Given the description of an element on the screen output the (x, y) to click on. 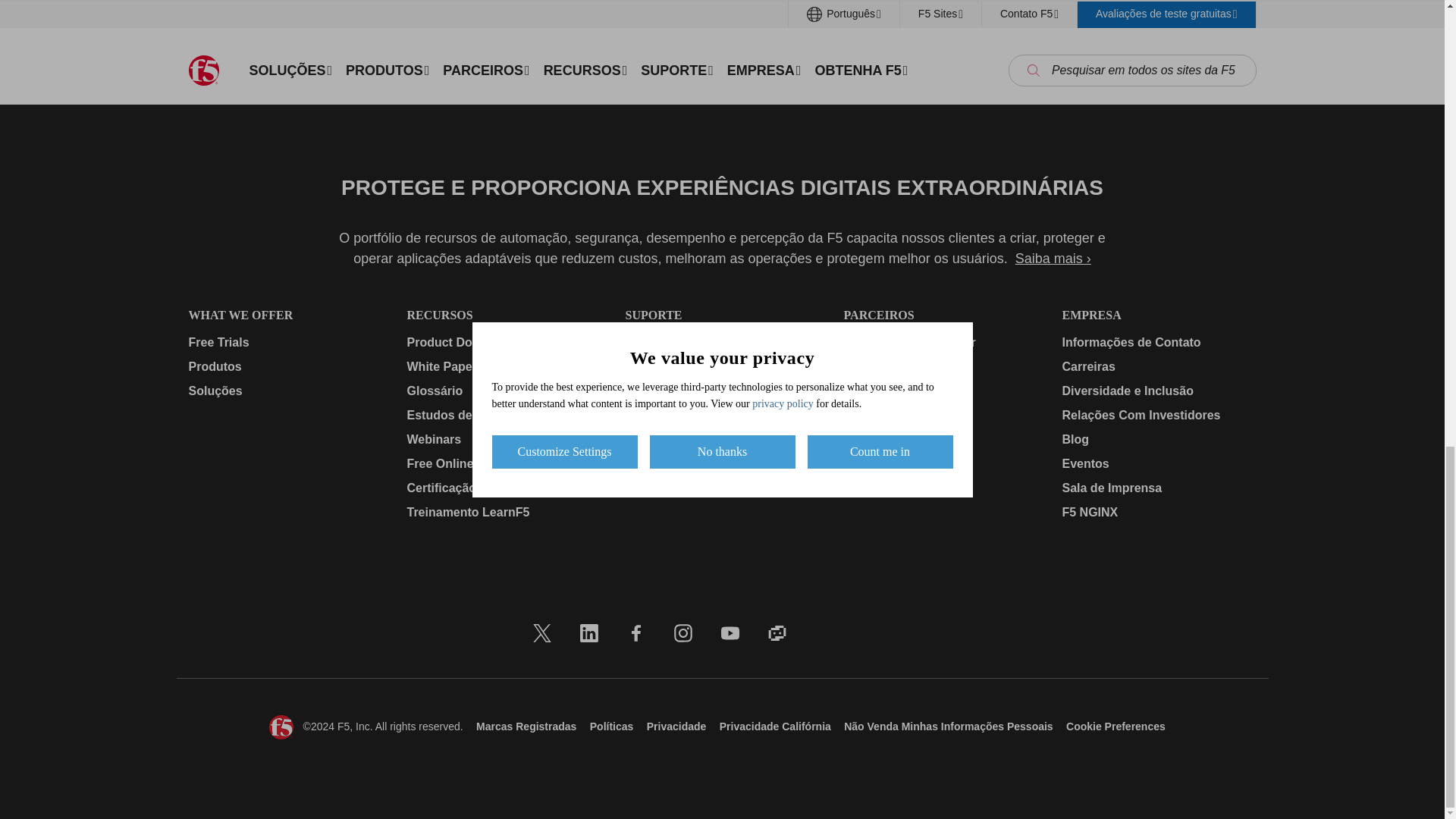
performance (1054, 22)
Product Documentation (502, 342)
Estudos de Casos de Clientes (502, 415)
platform on which you can standardize (689, 43)
Webinars (502, 439)
White Papers (502, 366)
Free Trials (284, 342)
add business value (1181, 22)
Produtos (284, 366)
modern, programmable proxies (816, 4)
